Given the description of an element on the screen output the (x, y) to click on. 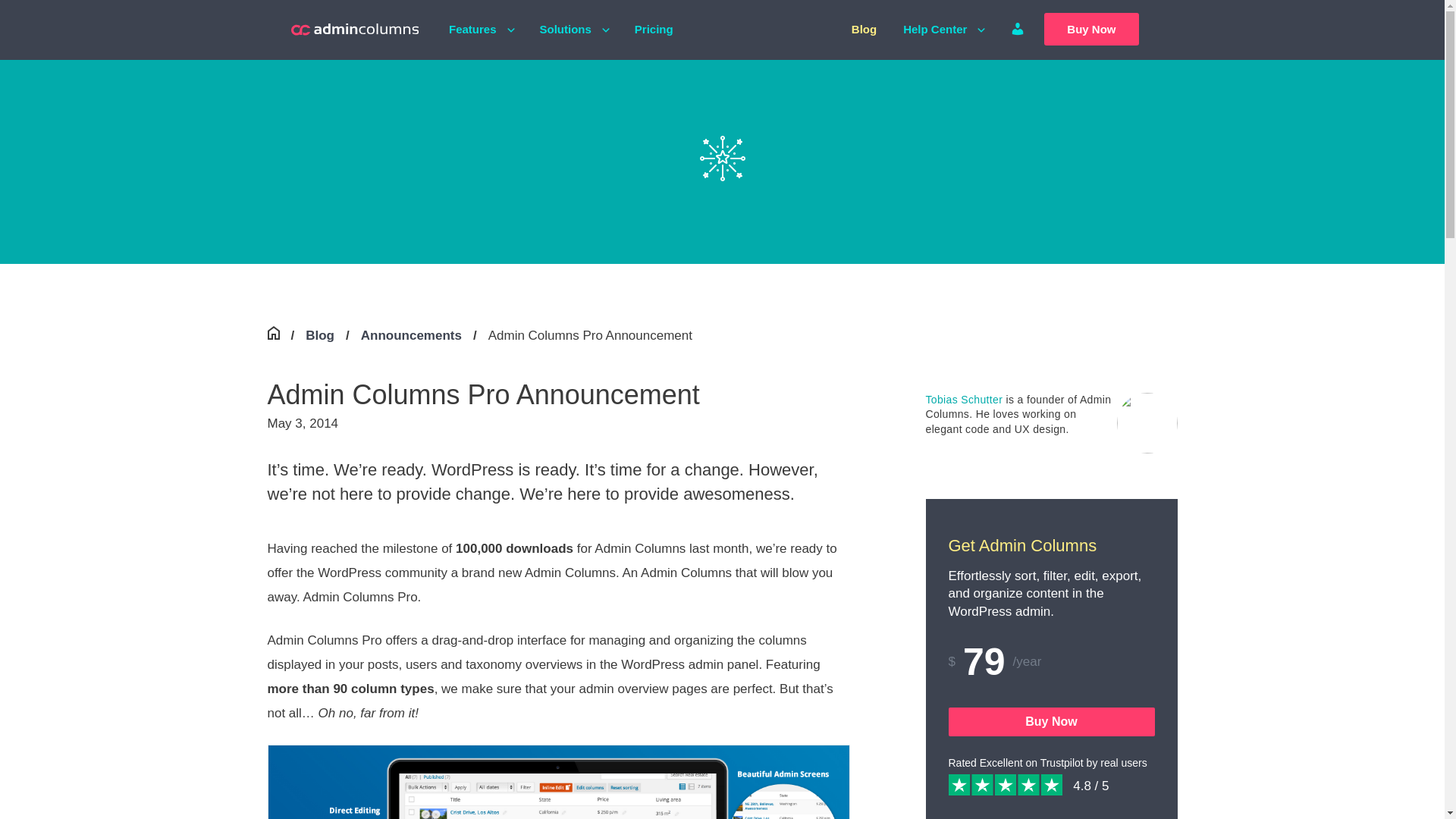
Admin Columns (355, 28)
Buy Now (1090, 29)
Tobias Schutter (963, 399)
Blog (863, 29)
Help Center (934, 29)
Pricing (654, 29)
Blog (319, 335)
Features (472, 29)
Account (1017, 28)
Announcements (411, 335)
